Given the description of an element on the screen output the (x, y) to click on. 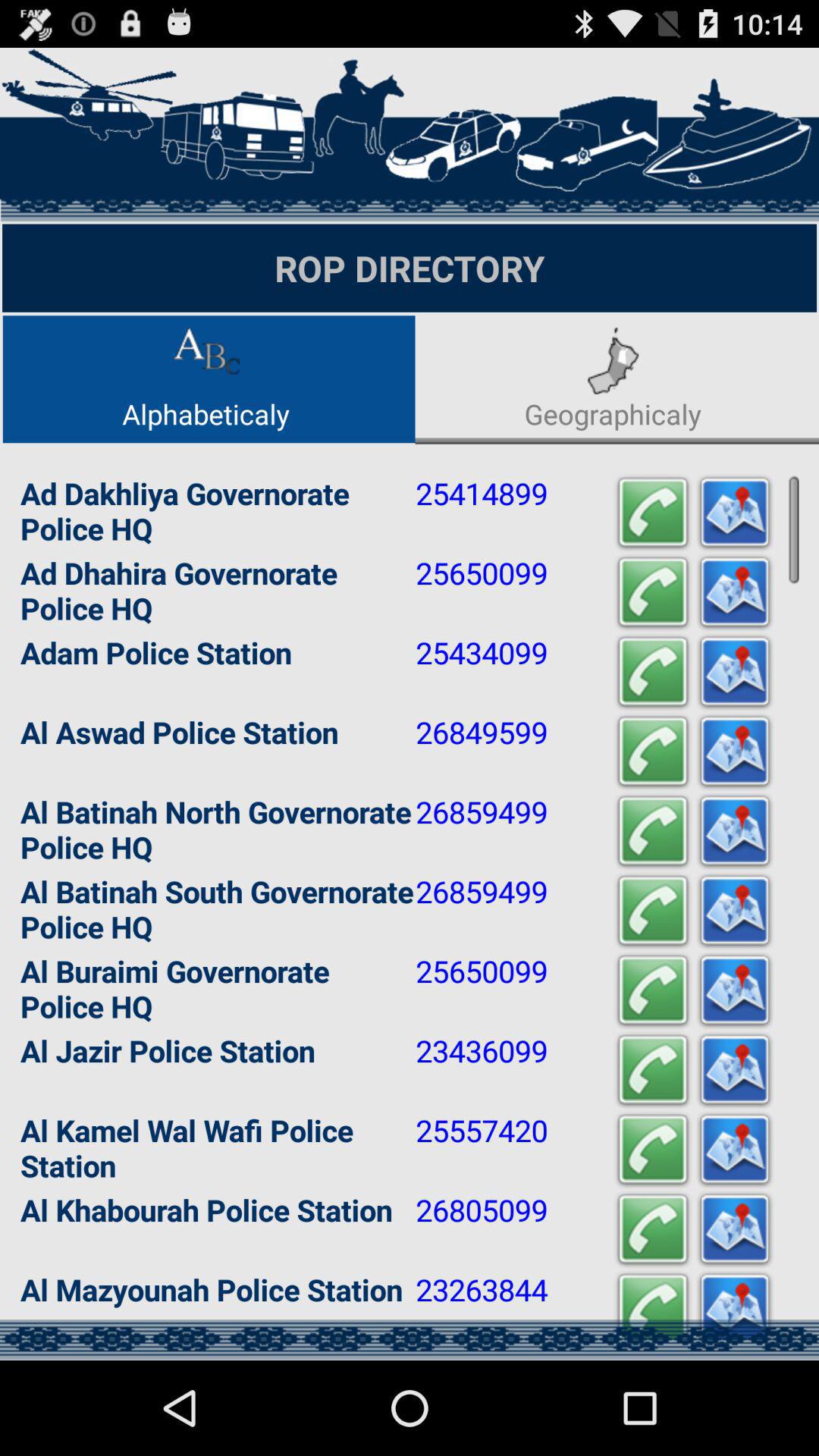
select app to the right of 26805099 app (652, 1229)
